Given the description of an element on the screen output the (x, y) to click on. 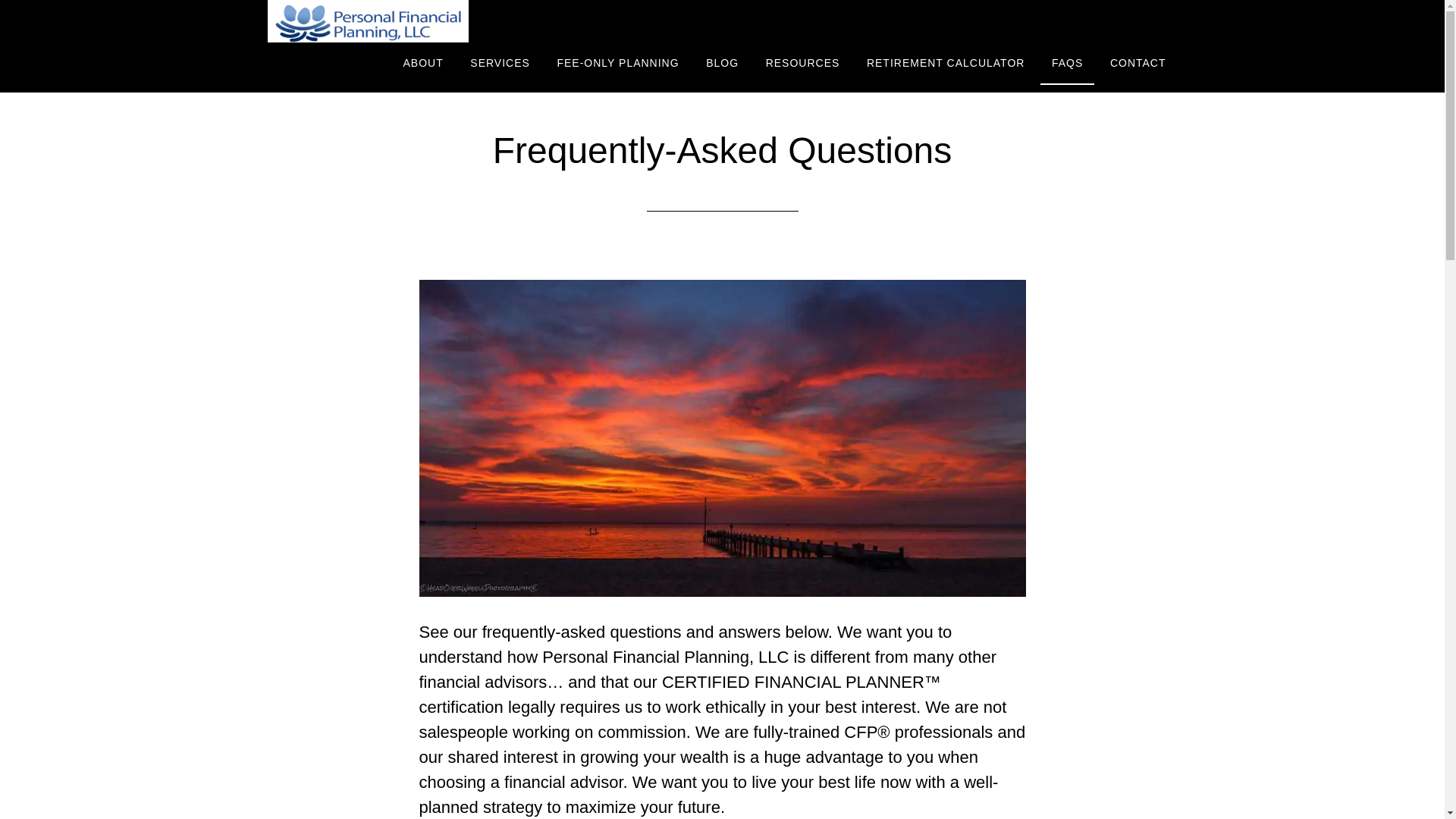
CONTACT (1138, 63)
RETIREMENT CALCULATOR (945, 63)
FAQS (1067, 63)
RESOURCES (802, 63)
FEE-ONLY PLANNING (617, 63)
PERSONAL FINANCIAL PLANNING, LLC (403, 21)
ABOUT (422, 63)
SERVICES (499, 63)
BLOG (721, 63)
